Given the description of an element on the screen output the (x, y) to click on. 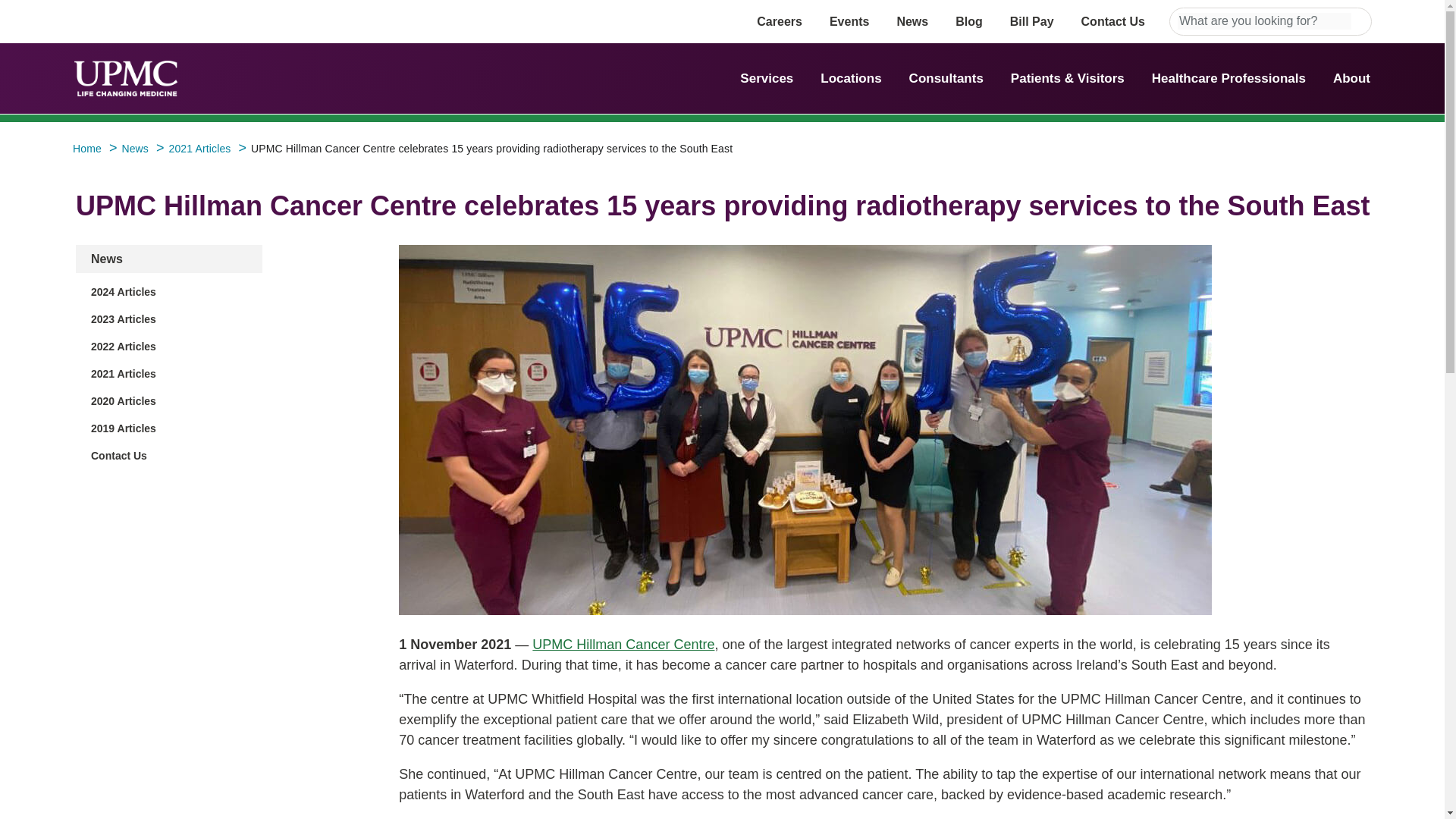
Services (766, 78)
2020 Articles (122, 400)
Learn more about UPMC Hillman Cancer Center. (623, 644)
UPMC Hillman Cancer Centre (623, 644)
News (106, 258)
Blog (968, 21)
About (1351, 78)
Bill Pay (1032, 21)
Events (849, 21)
Healthcare Professionals (1228, 78)
